Given the description of an element on the screen output the (x, y) to click on. 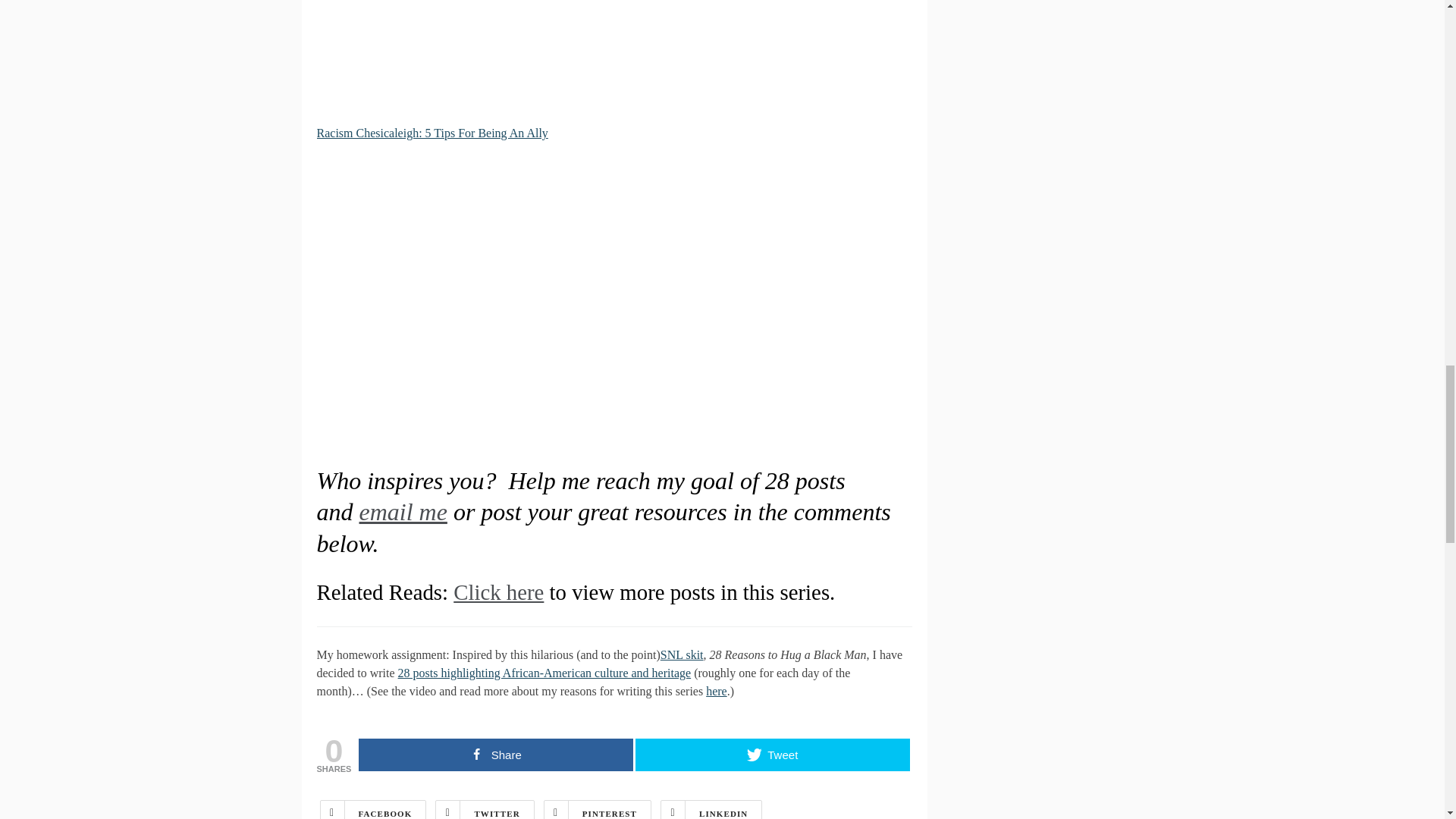
5 Tips For Being An Ally (432, 132)
